Given the description of an element on the screen output the (x, y) to click on. 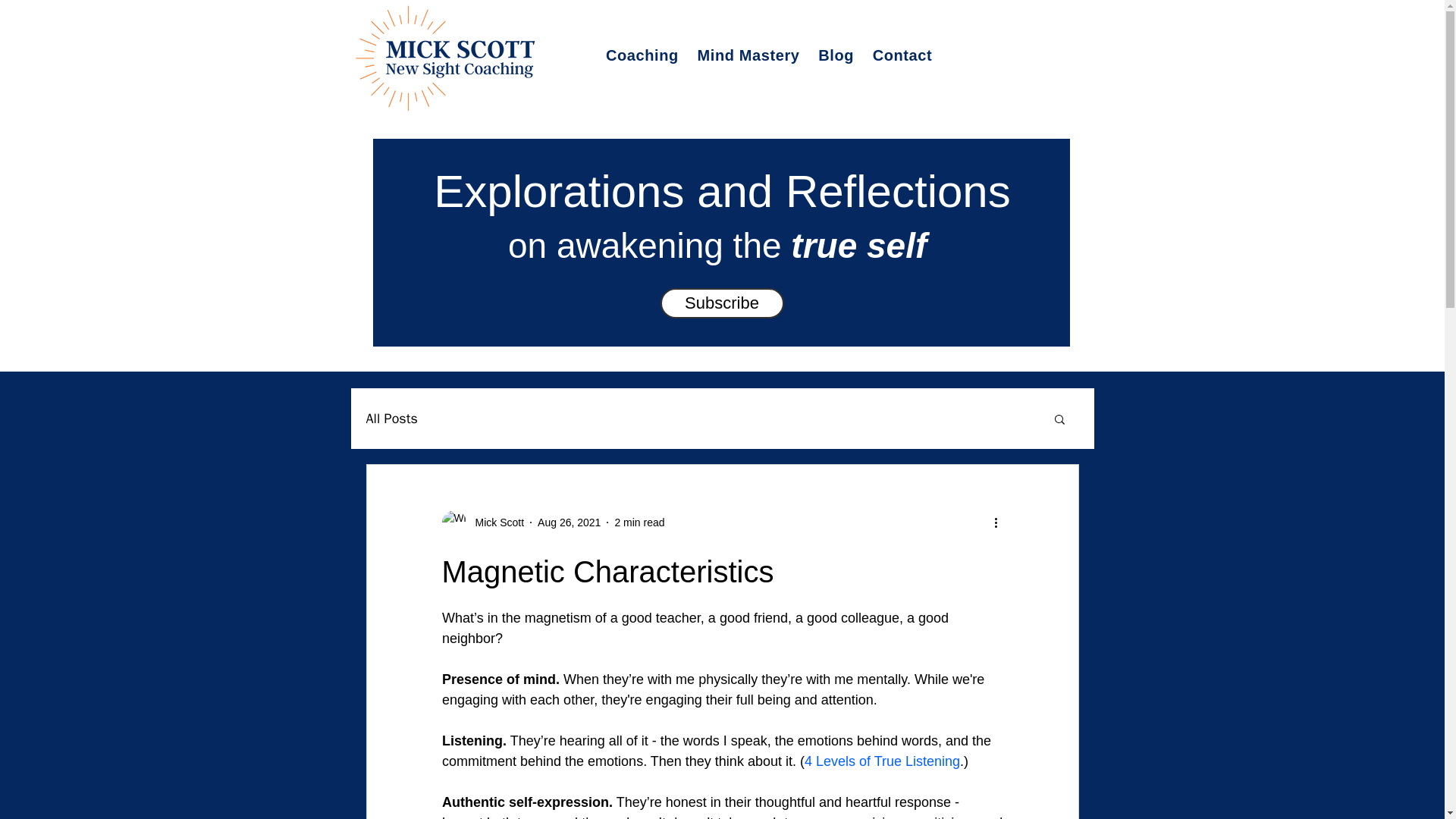
Contact  (904, 54)
Coaching (641, 54)
Mind Mastery (748, 54)
All Posts (390, 418)
Aug 26, 2021 (568, 521)
Subscribe (721, 303)
4 Levels of True Listening (881, 761)
Blog (835, 54)
2 min read (638, 521)
Mick Scott (494, 521)
